Given the description of an element on the screen output the (x, y) to click on. 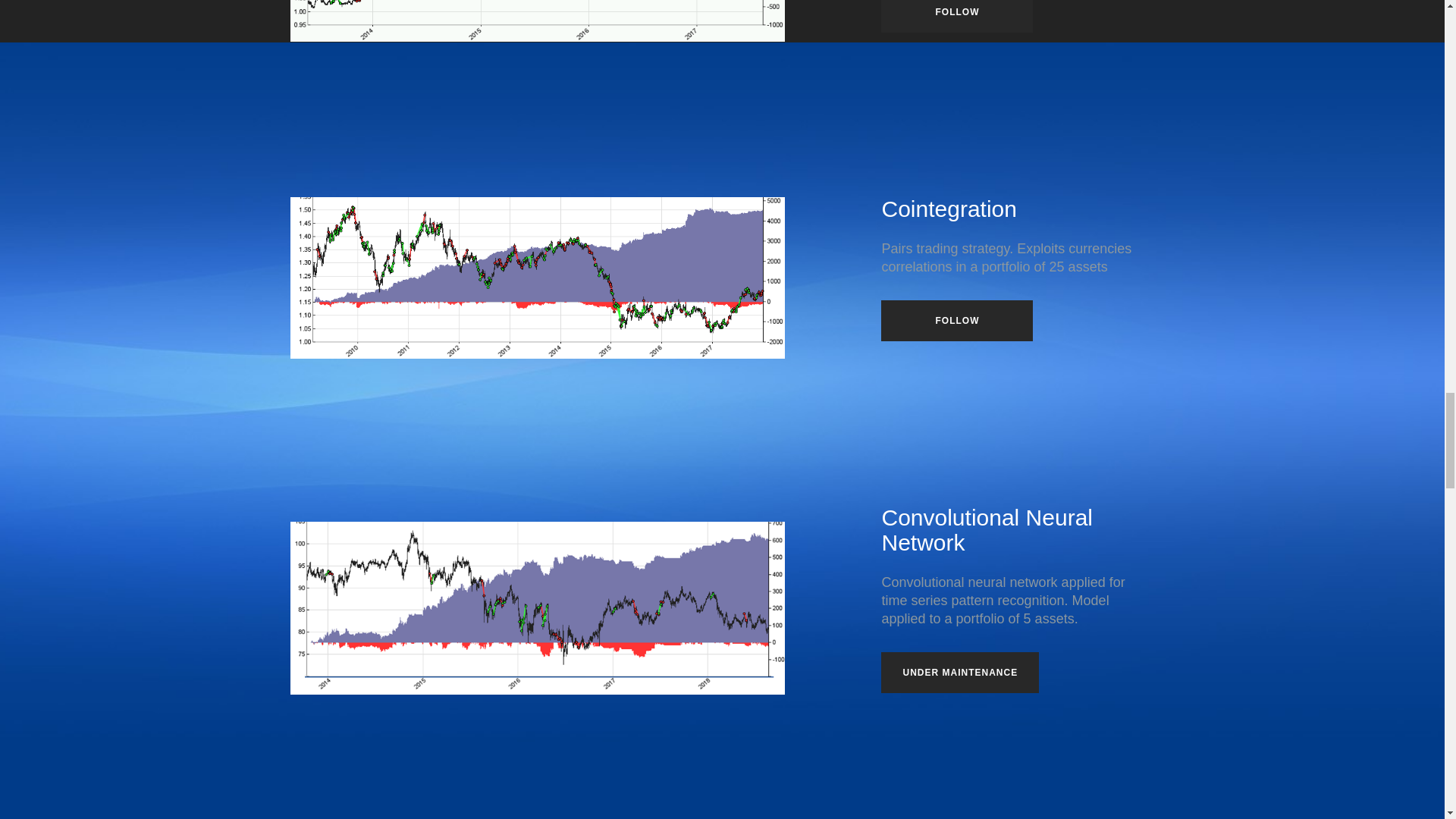
FOLLOW (956, 320)
UNDER MAINTENANCE (959, 671)
FOLLOW (956, 16)
